Given the description of an element on the screen output the (x, y) to click on. 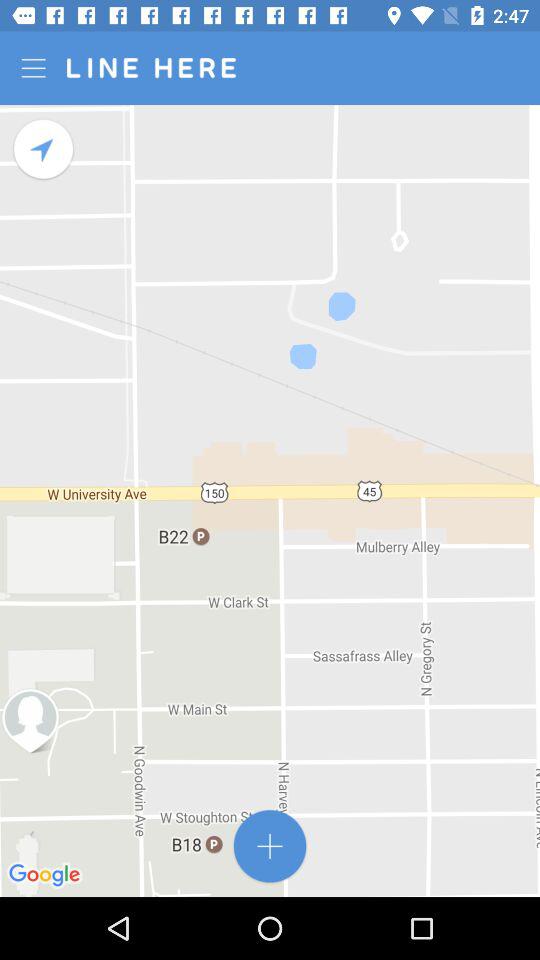
apply map to current location (44, 149)
